Given the description of an element on the screen output the (x, y) to click on. 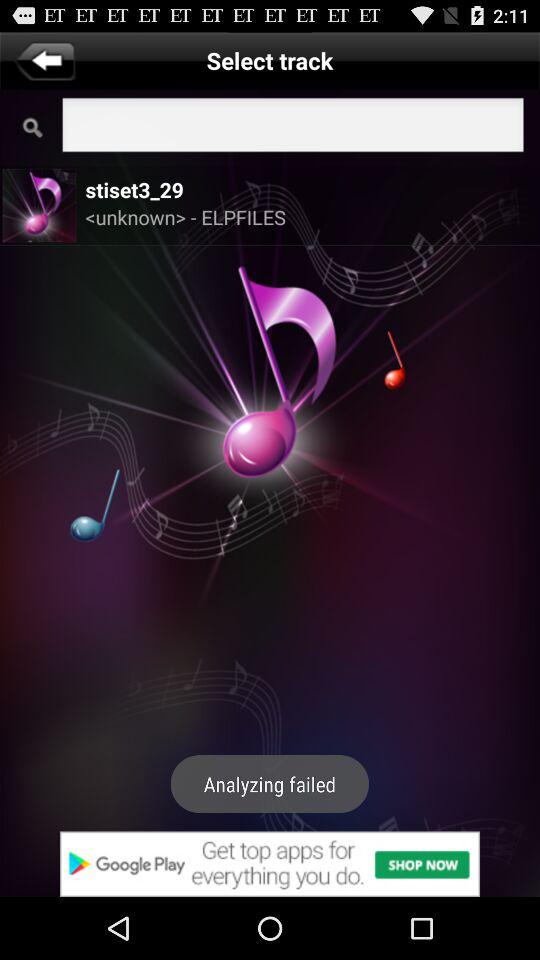
open advertisement (270, 864)
